Given the description of an element on the screen output the (x, y) to click on. 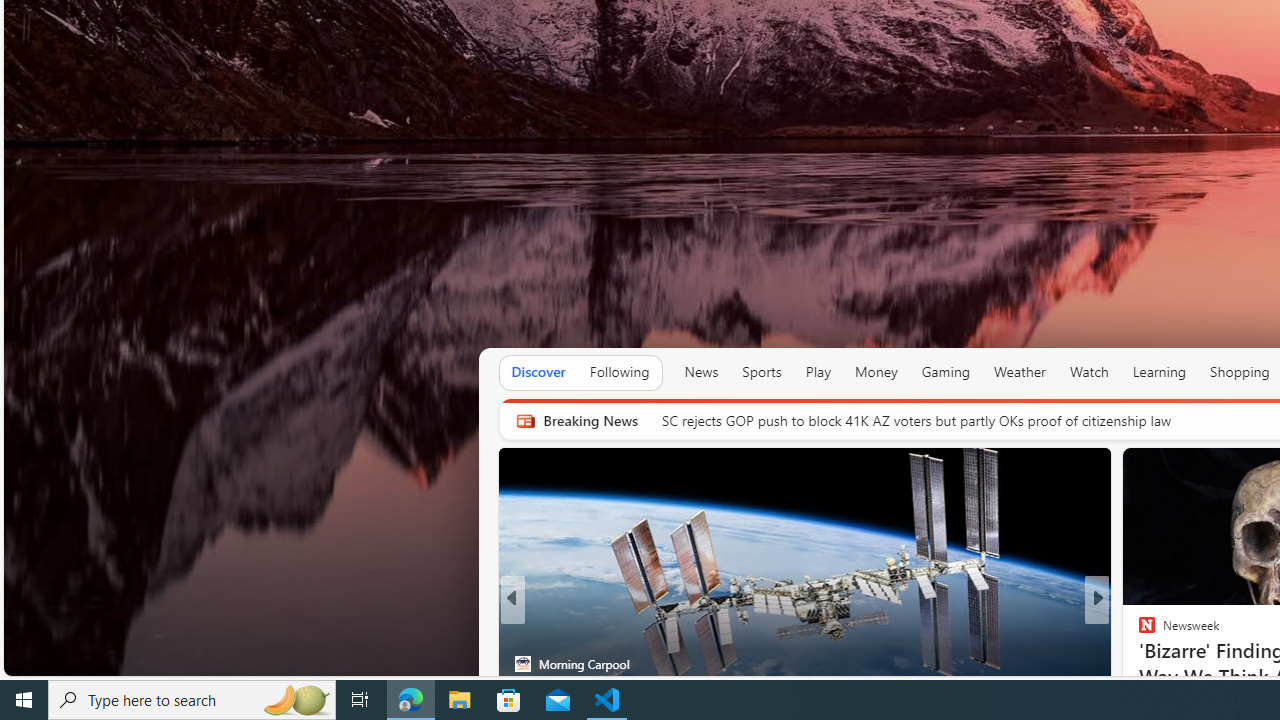
Morning Carpool (522, 663)
Yumophile (1138, 663)
HowToGeek (1138, 663)
The Independent (1138, 632)
24/7 Wall St. (1138, 632)
ETNT Mind+Body (1138, 632)
